Given the description of an element on the screen output the (x, y) to click on. 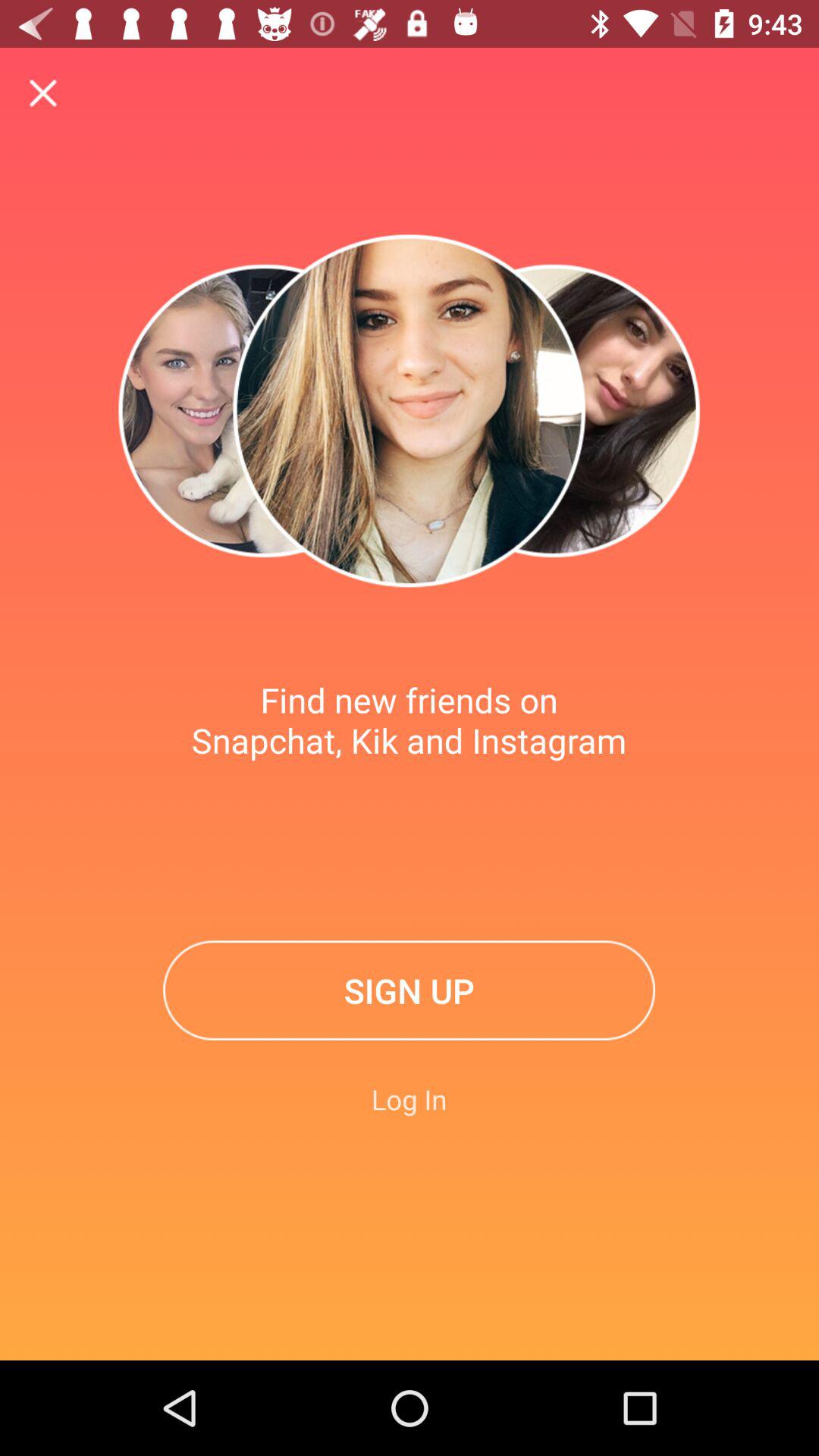
jump to log in icon (409, 1099)
